Given the description of an element on the screen output the (x, y) to click on. 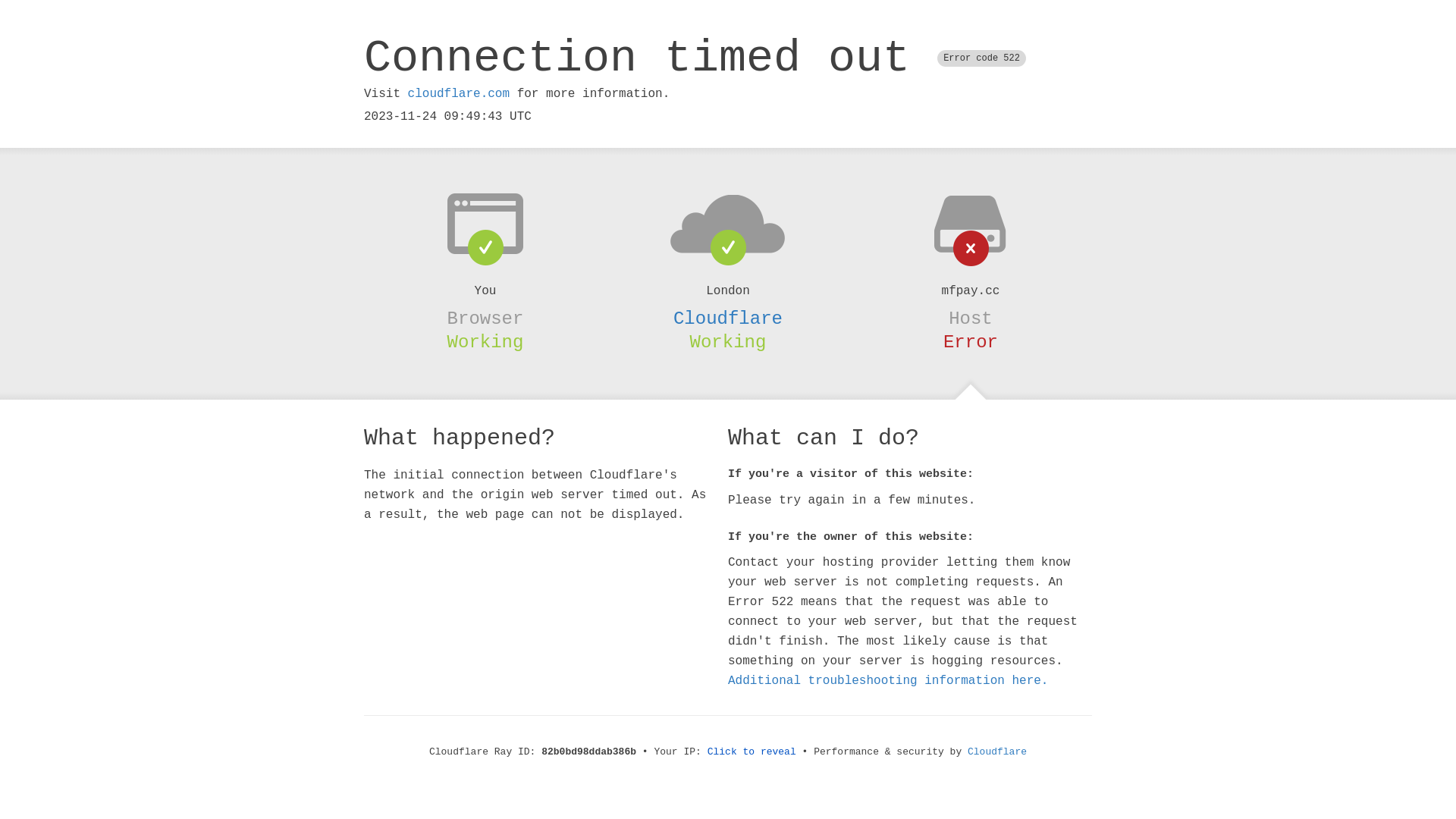
Additional troubleshooting information here. Element type: text (888, 680)
Cloudflare Element type: text (727, 318)
Cloudflare Element type: text (996, 751)
cloudflare.com Element type: text (458, 93)
Click to reveal Element type: text (751, 751)
